Given the description of an element on the screen output the (x, y) to click on. 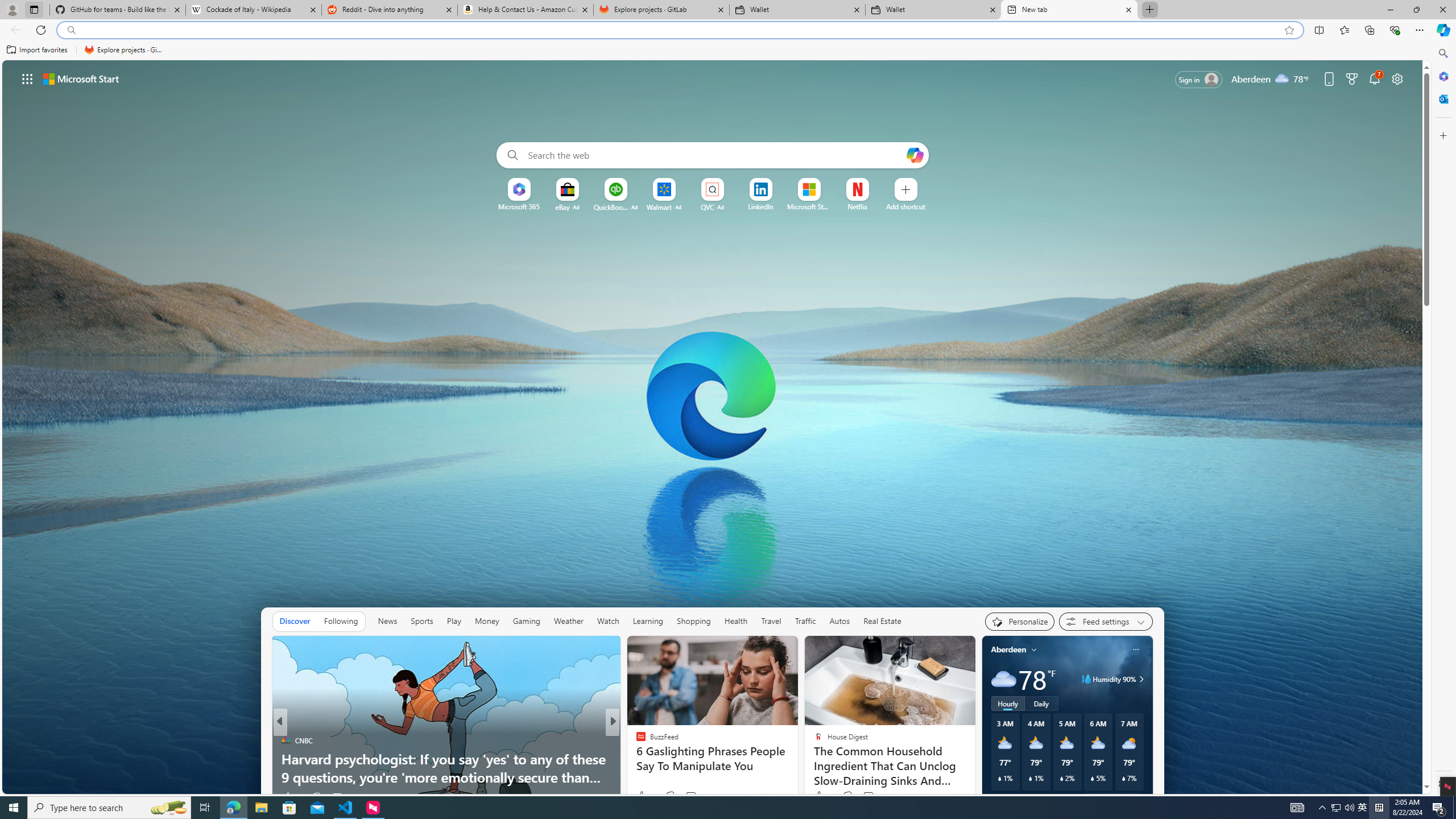
177 Like (643, 796)
View comments 89 Comment (691, 797)
Favorites bar (715, 49)
My location (1033, 649)
View comments 139 Comment (696, 795)
Fox Business (635, 740)
Money (486, 621)
883 Like (643, 796)
See full forecast (1112, 799)
View comments 16 Comment (693, 796)
